Given the description of an element on the screen output the (x, y) to click on. 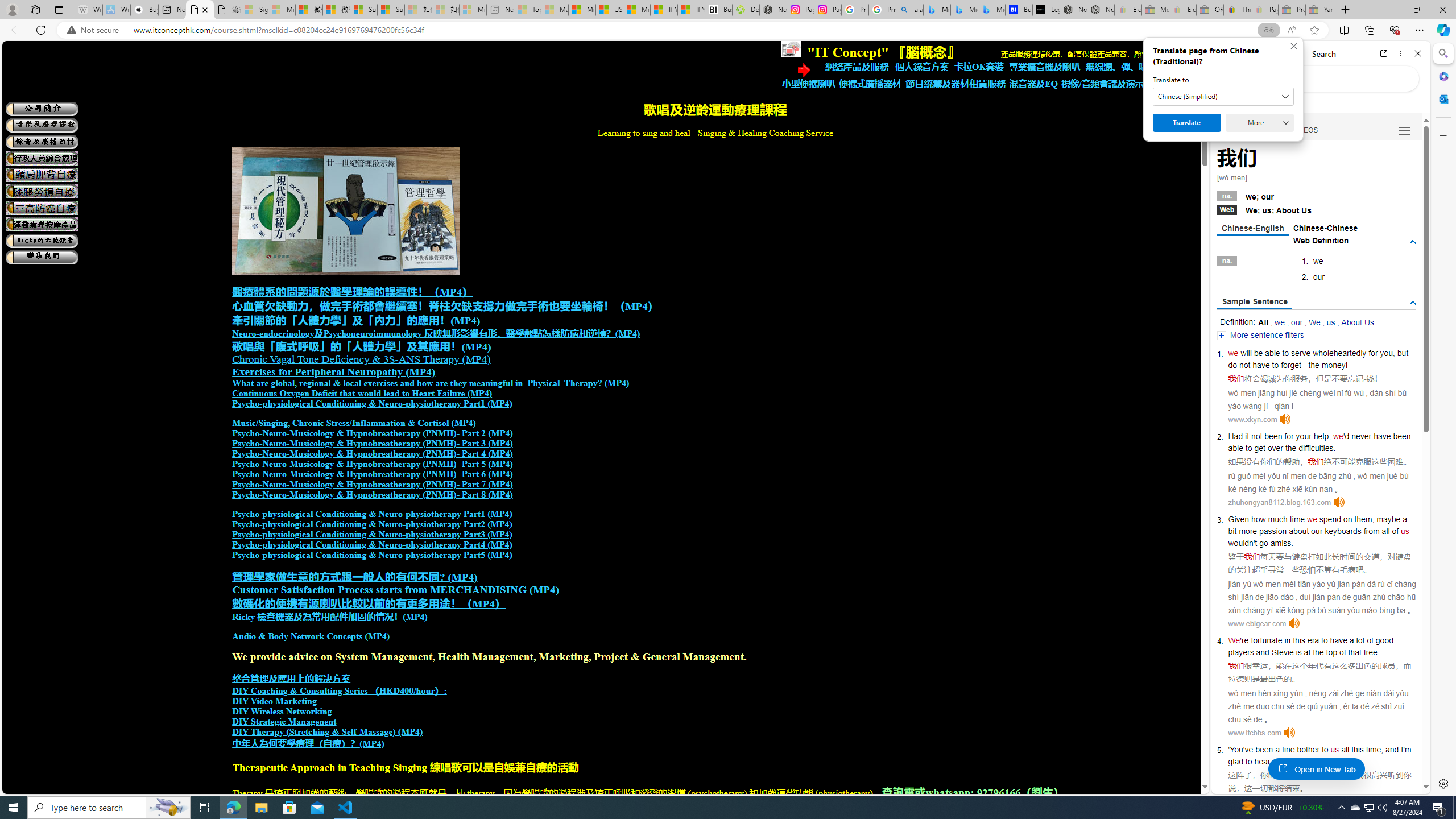
zhuhongyan8112.blog.163.com (1278, 501)
Settings and more (Alt+F) (1419, 29)
have (1337, 640)
over (1275, 447)
App bar (728, 29)
Browser essentials (1394, 29)
Web Definition (1321, 240)
Sign in to your Microsoft account - Sleeping (254, 9)
but (1402, 352)
